Given the description of an element on the screen output the (x, y) to click on. 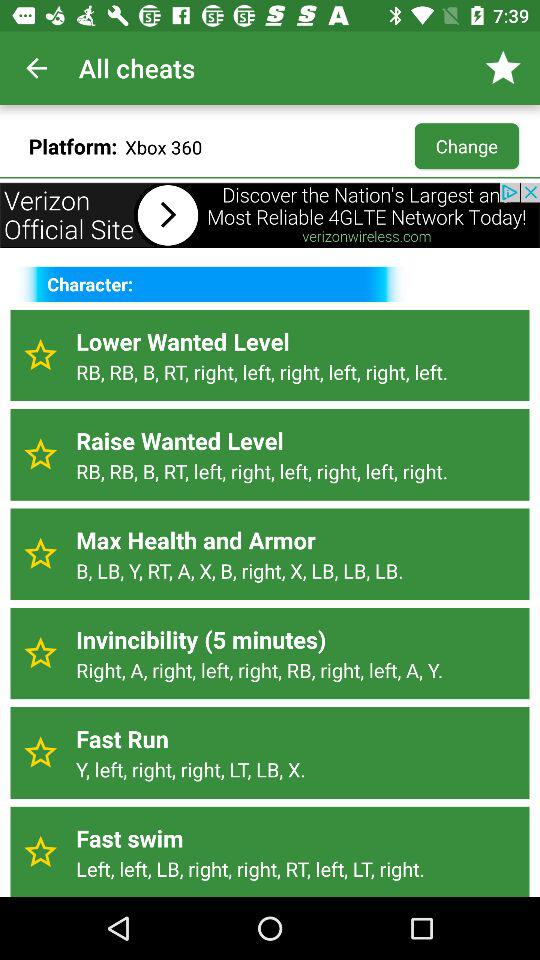
select the official website (270, 215)
